Given the description of an element on the screen output the (x, y) to click on. 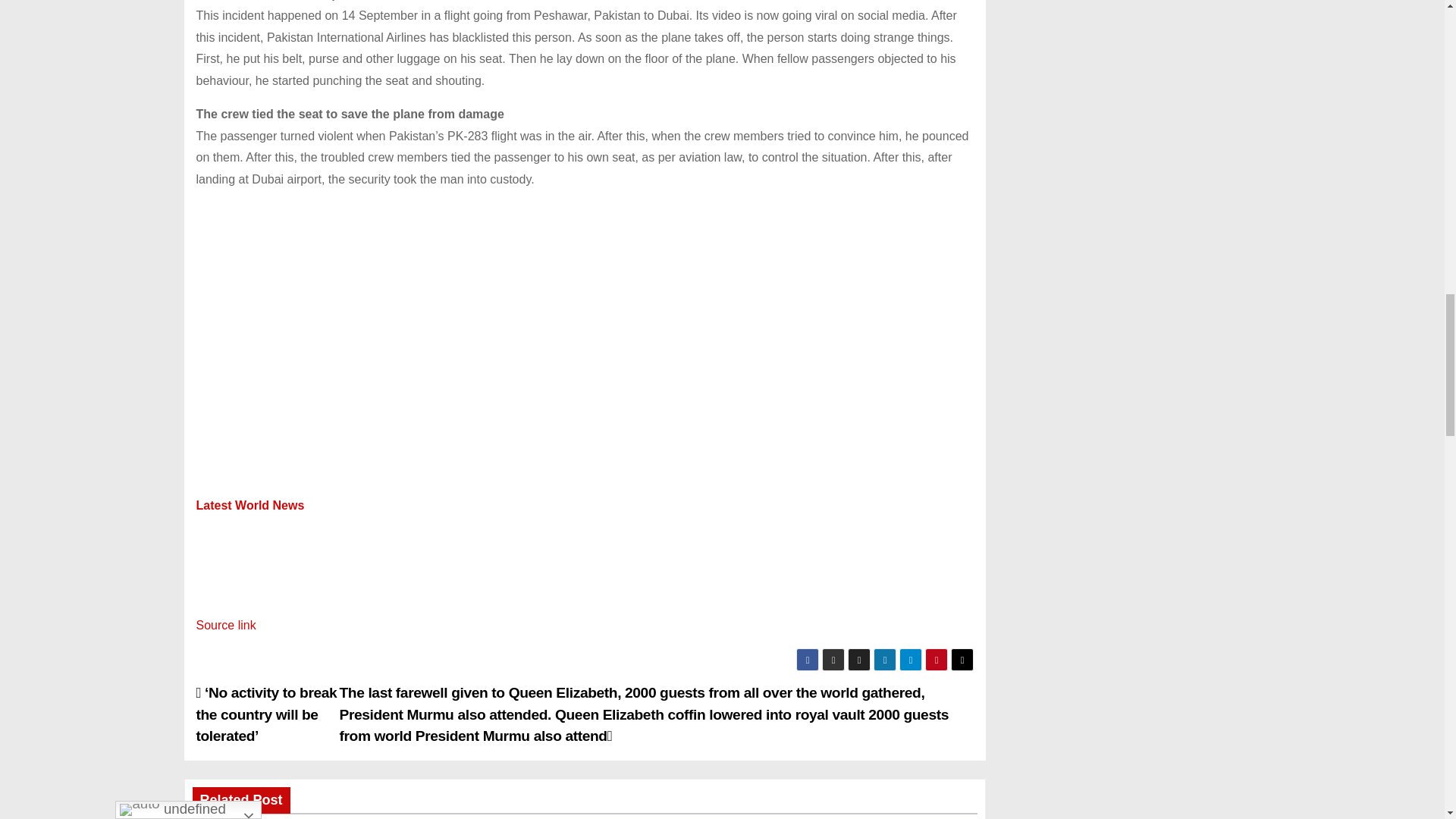
Source link (225, 625)
World News in Hindi (249, 504)
Latest World News (249, 504)
